Given the description of an element on the screen output the (x, y) to click on. 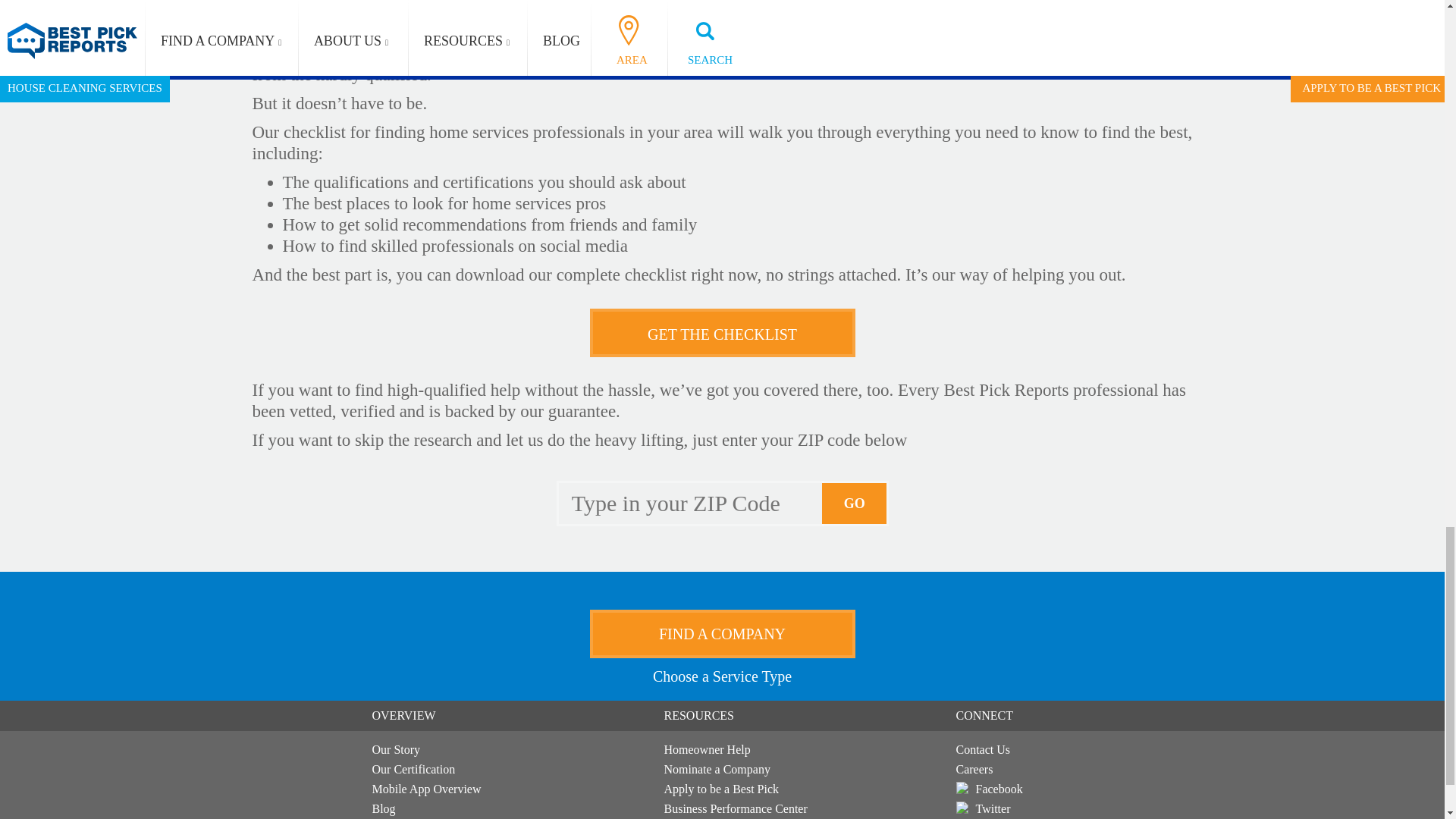
Please enter a 5-digit ZIP Code (690, 503)
Go (855, 503)
Go (855, 503)
